Given the description of an element on the screen output the (x, y) to click on. 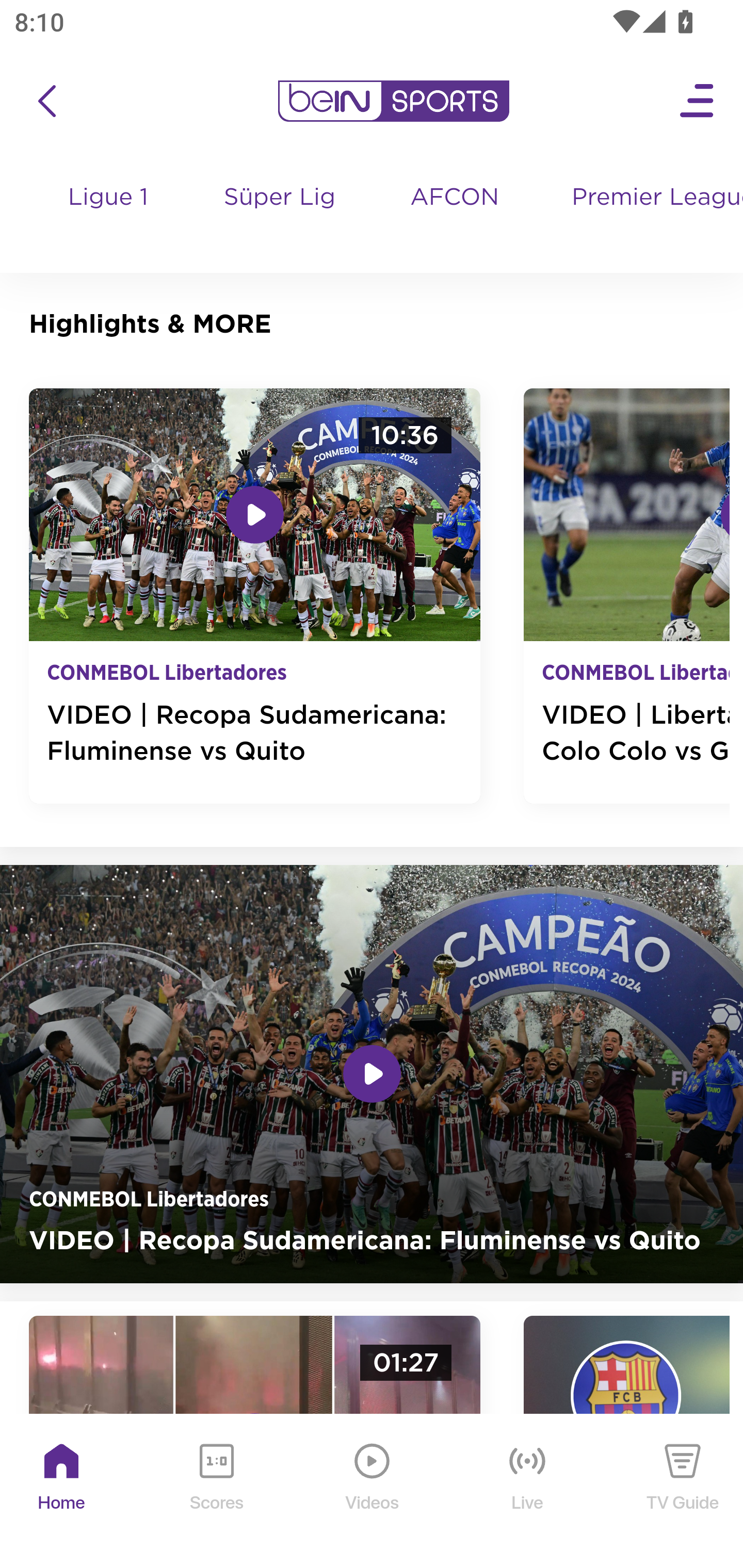
en-us?platform=mobile_android bein logo (392, 101)
icon back (46, 101)
Open Menu Icon (697, 101)
Ligue 1 (109, 216)
Süper Lig (280, 216)
AFCON (453, 198)
Premier League (649, 198)
Home Home Icon Home (61, 1491)
Scores Scores Icon Scores (216, 1491)
Videos Videos Icon Videos (372, 1491)
TV Guide TV Guide Icon TV Guide (682, 1491)
